Given the description of an element on the screen output the (x, y) to click on. 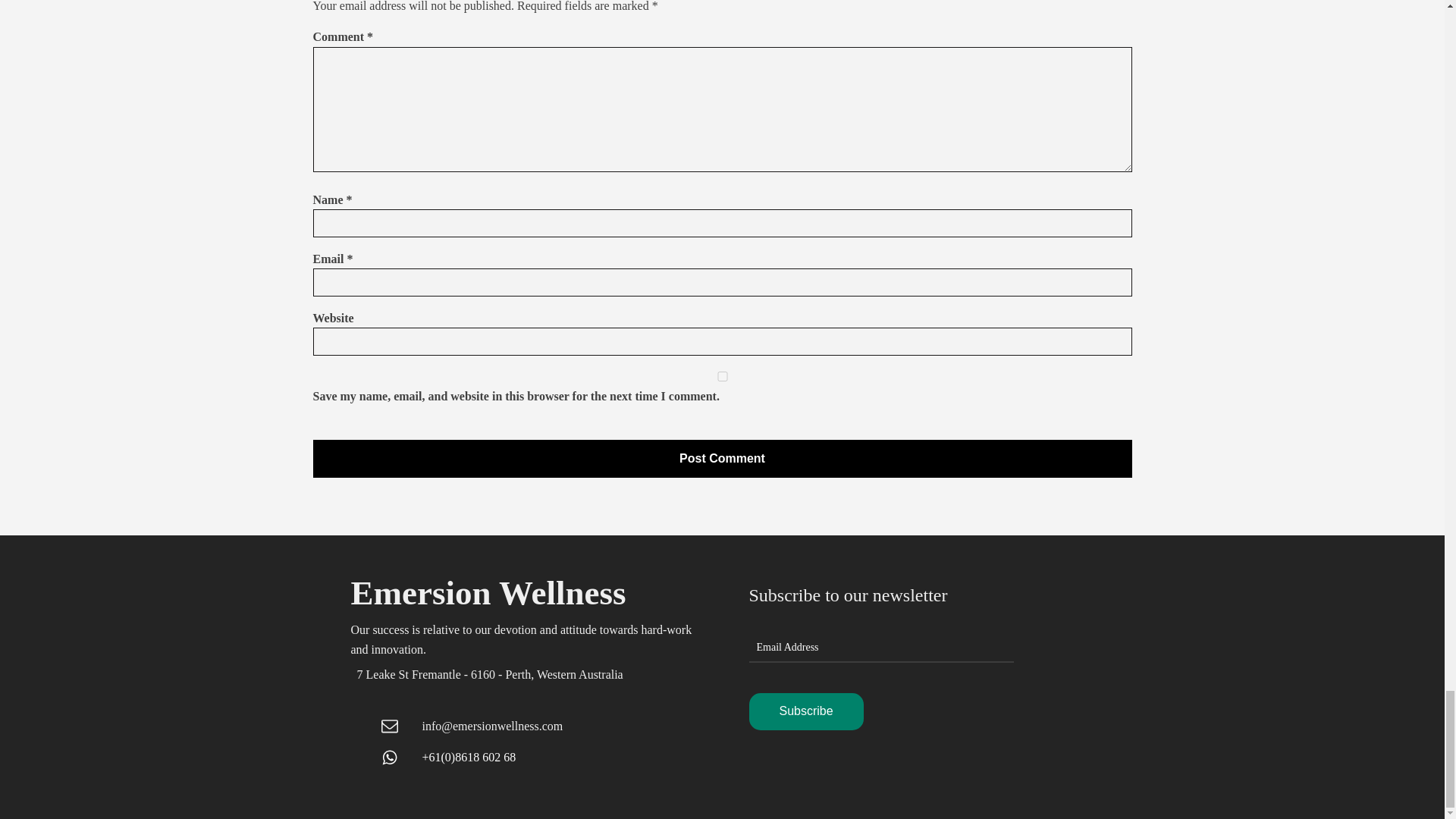
yes (722, 376)
Subscribe (806, 710)
Post Comment (722, 458)
